Given the description of an element on the screen output the (x, y) to click on. 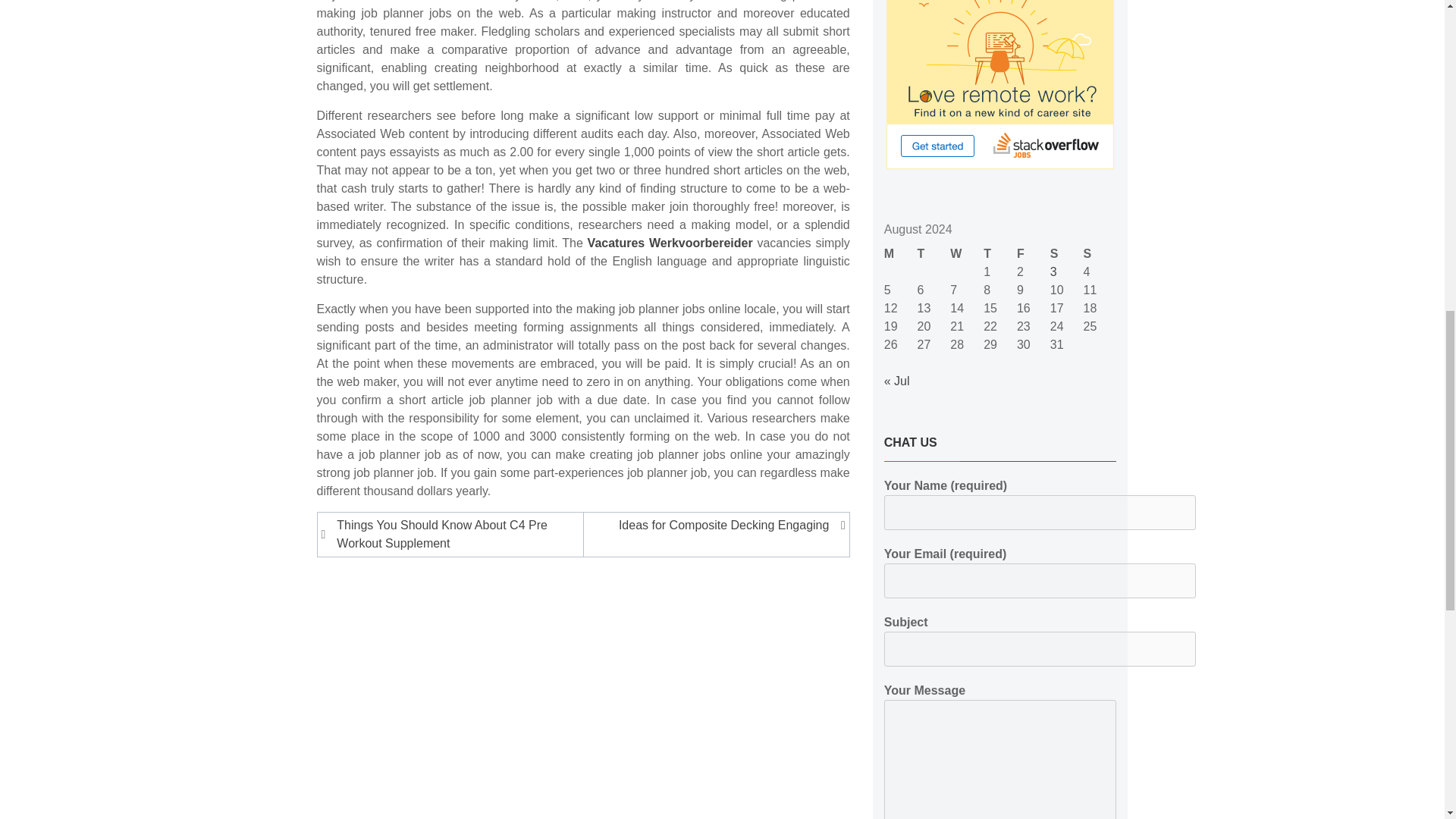
Wednesday (967, 253)
Saturday (1066, 253)
Monday (900, 253)
Friday (1032, 253)
Thursday (1000, 253)
Ideas for Composite Decking Engaging (713, 525)
Sunday (1099, 253)
Things You Should Know About C4 Pre Workout Supplement (451, 534)
Vacatures Werkvoorbereider (670, 242)
Tuesday (933, 253)
